Given the description of an element on the screen output the (x, y) to click on. 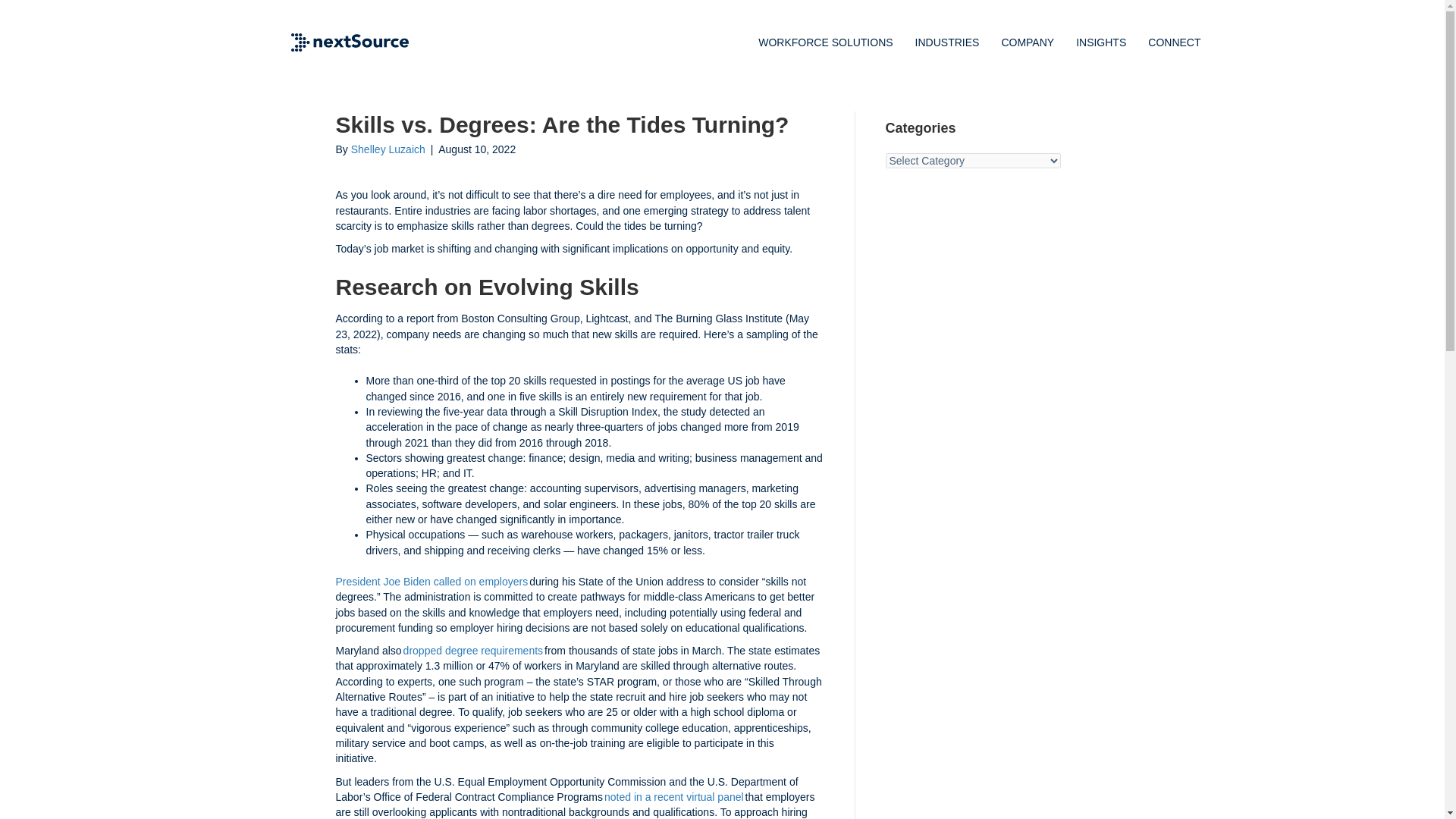
CONNECT (1174, 42)
INSIGHTS (1101, 42)
COMPANY (1027, 42)
nextSource header logo navy (350, 42)
INDUSTRIES (947, 42)
WORKFORCE SOLUTIONS (825, 42)
